Given the description of an element on the screen output the (x, y) to click on. 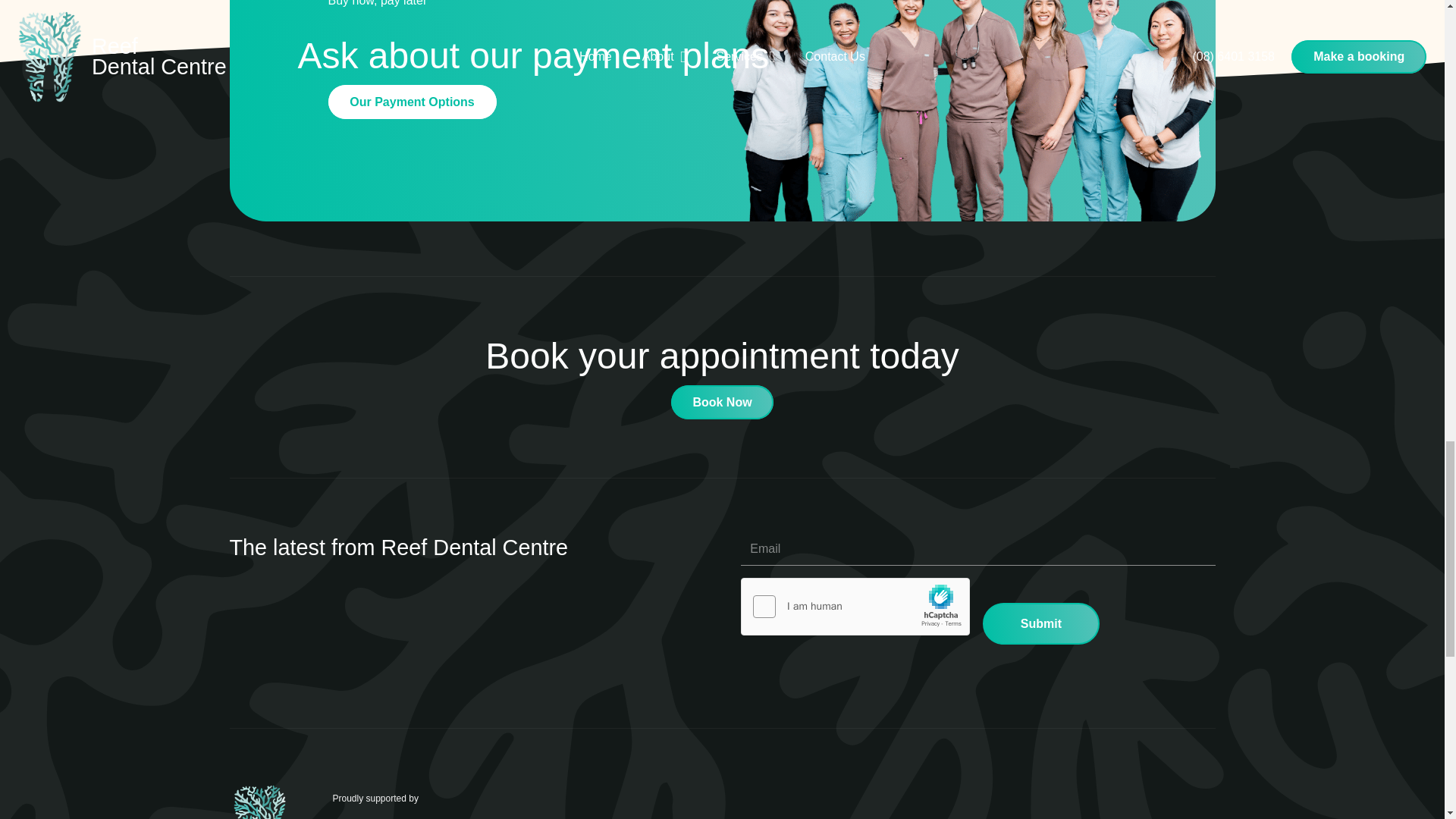
Submit (1040, 623)
Widget containing checkbox for hCaptcha security challenge (854, 607)
Payment Options (411, 101)
